Given the description of an element on the screen output the (x, y) to click on. 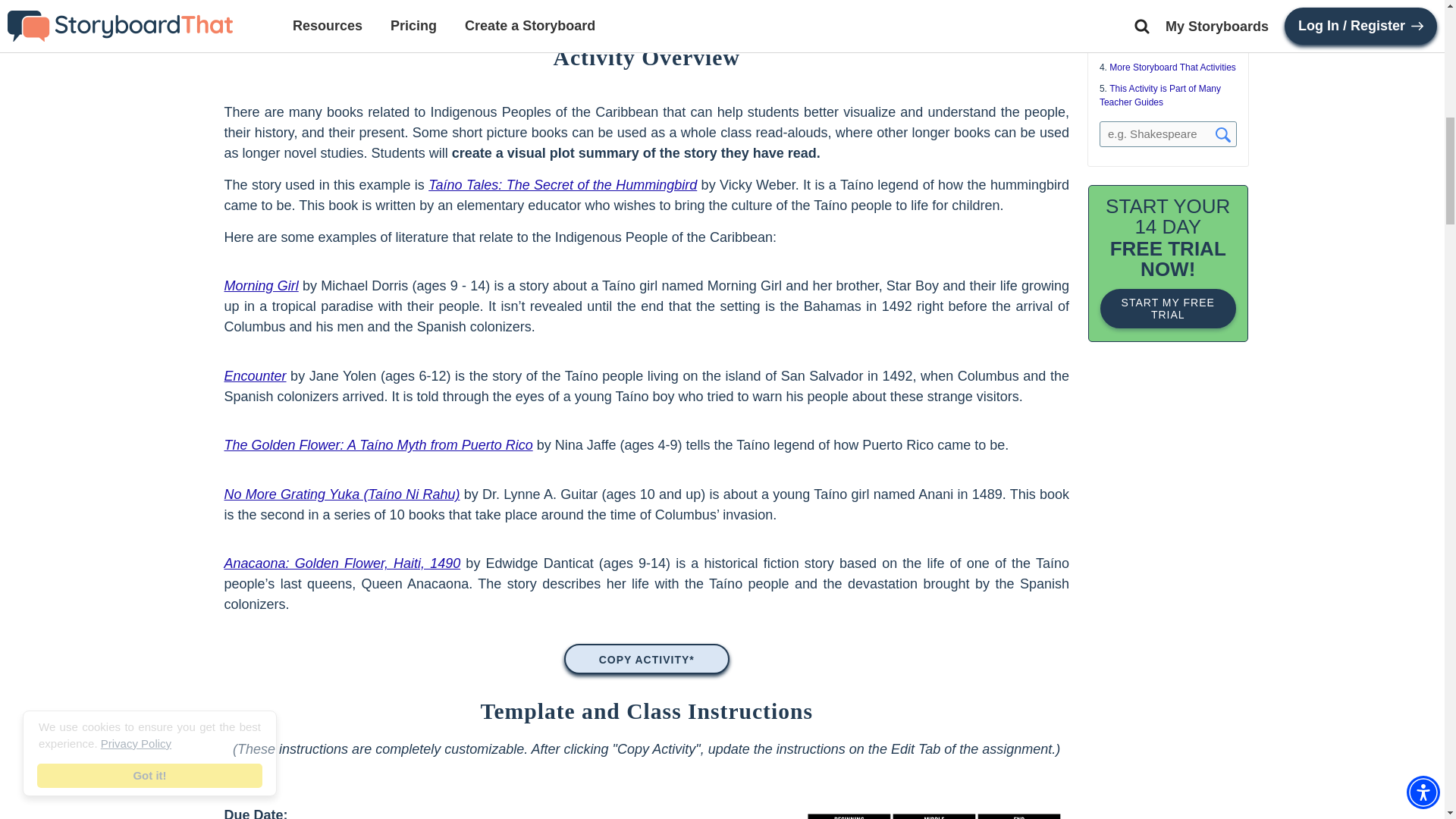
Morning Girl (261, 285)
